Given the description of an element on the screen output the (x, y) to click on. 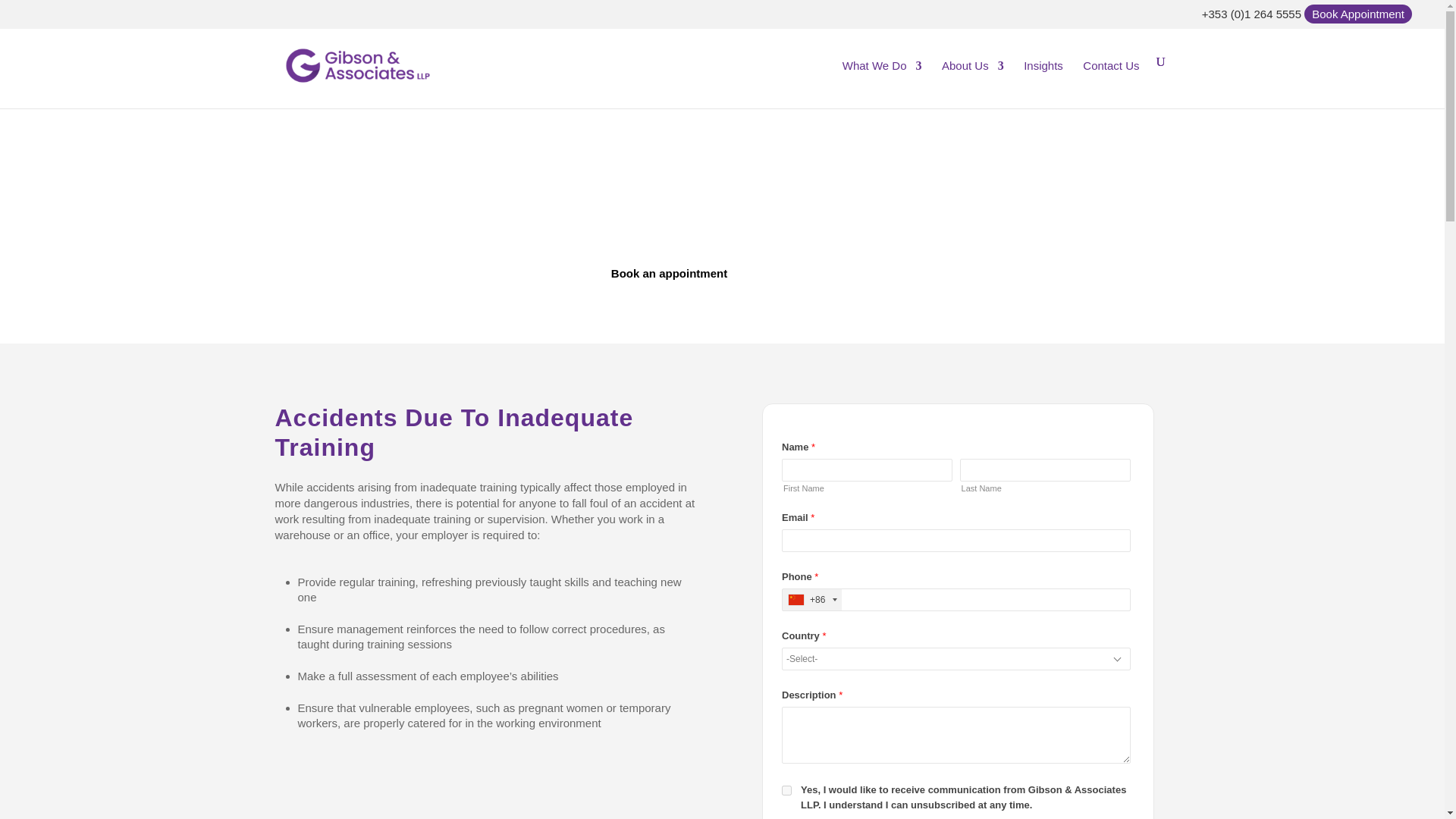
About Us (973, 77)
What We Do (882, 77)
Book Appointment (1356, 13)
